Given the description of an element on the screen output the (x, y) to click on. 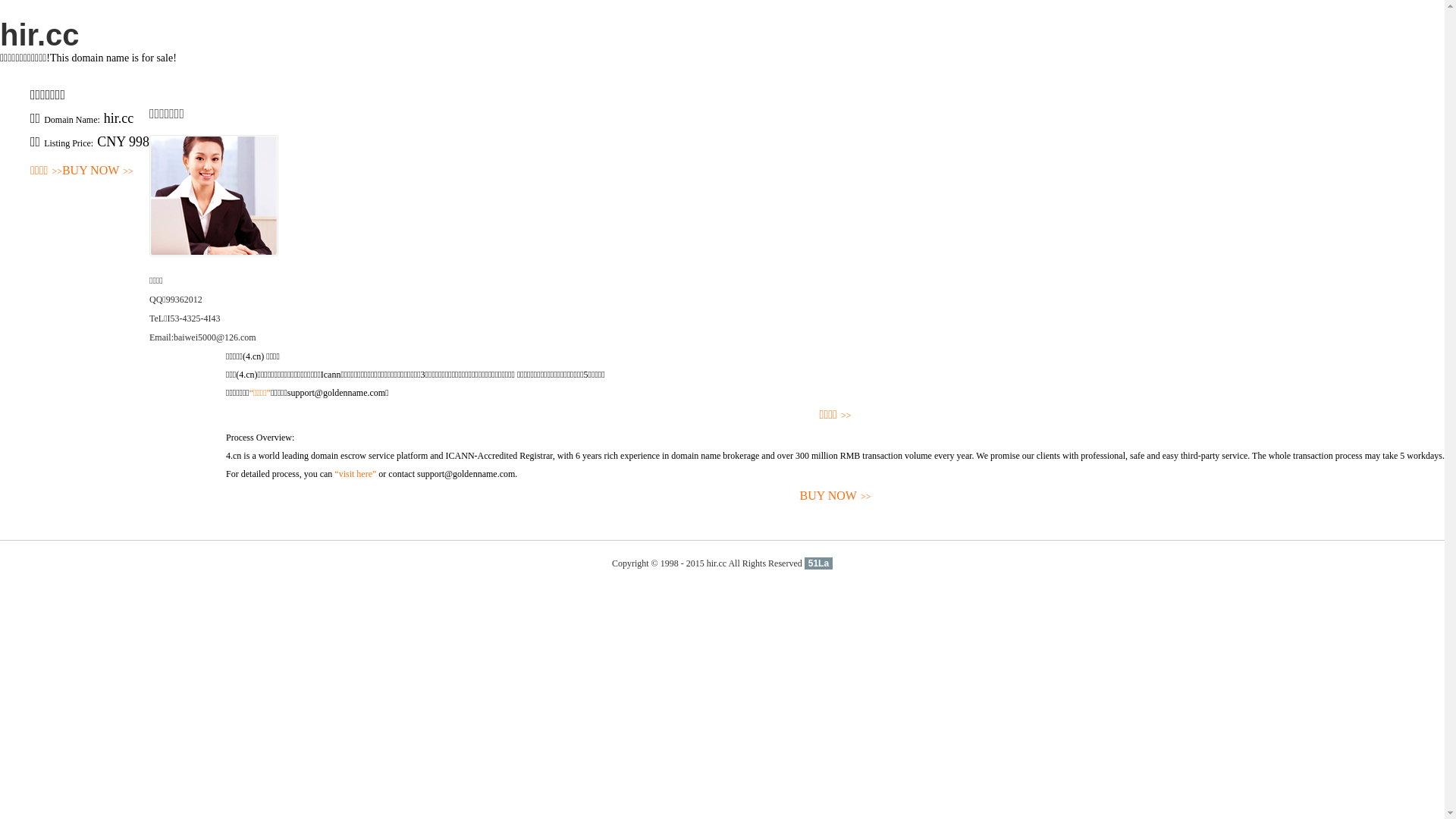
BUY NOW>> Element type: text (834, 496)
BUY NOW>> Element type: text (97, 170)
51La Element type: text (818, 563)
